Given the description of an element on the screen output the (x, y) to click on. 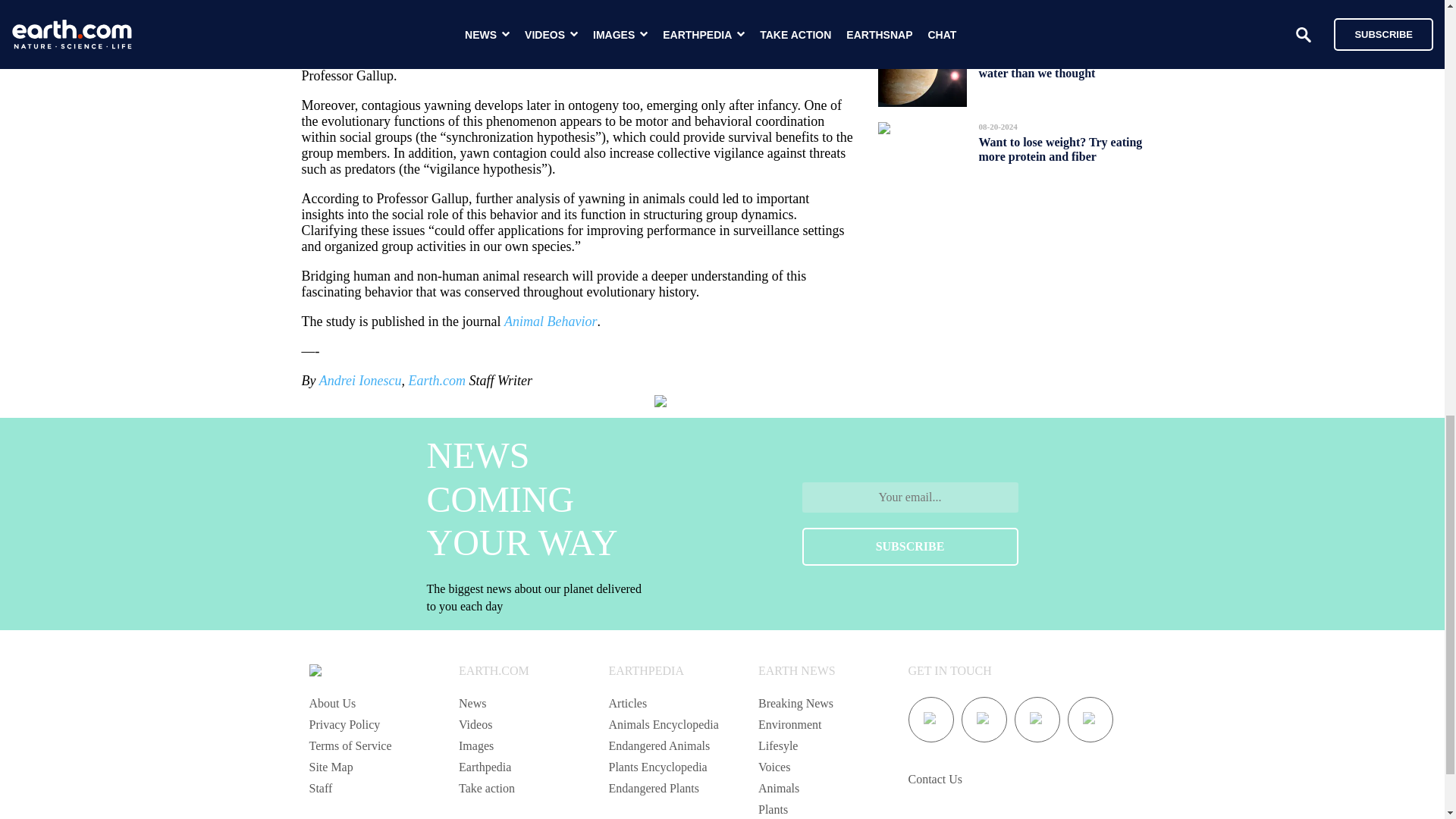
SUBSCRIBE (909, 546)
Animal Behavior (549, 321)
Want to lose weight? Try eating more protein and fiber (1059, 148)
Protein that halts DNA damage may lead to cancer vaccines (1059, 2)
Earth.com (436, 380)
Andrei Ionescu (359, 380)
Planets are hiding much more water than we thought (1056, 65)
